Given the description of an element on the screen output the (x, y) to click on. 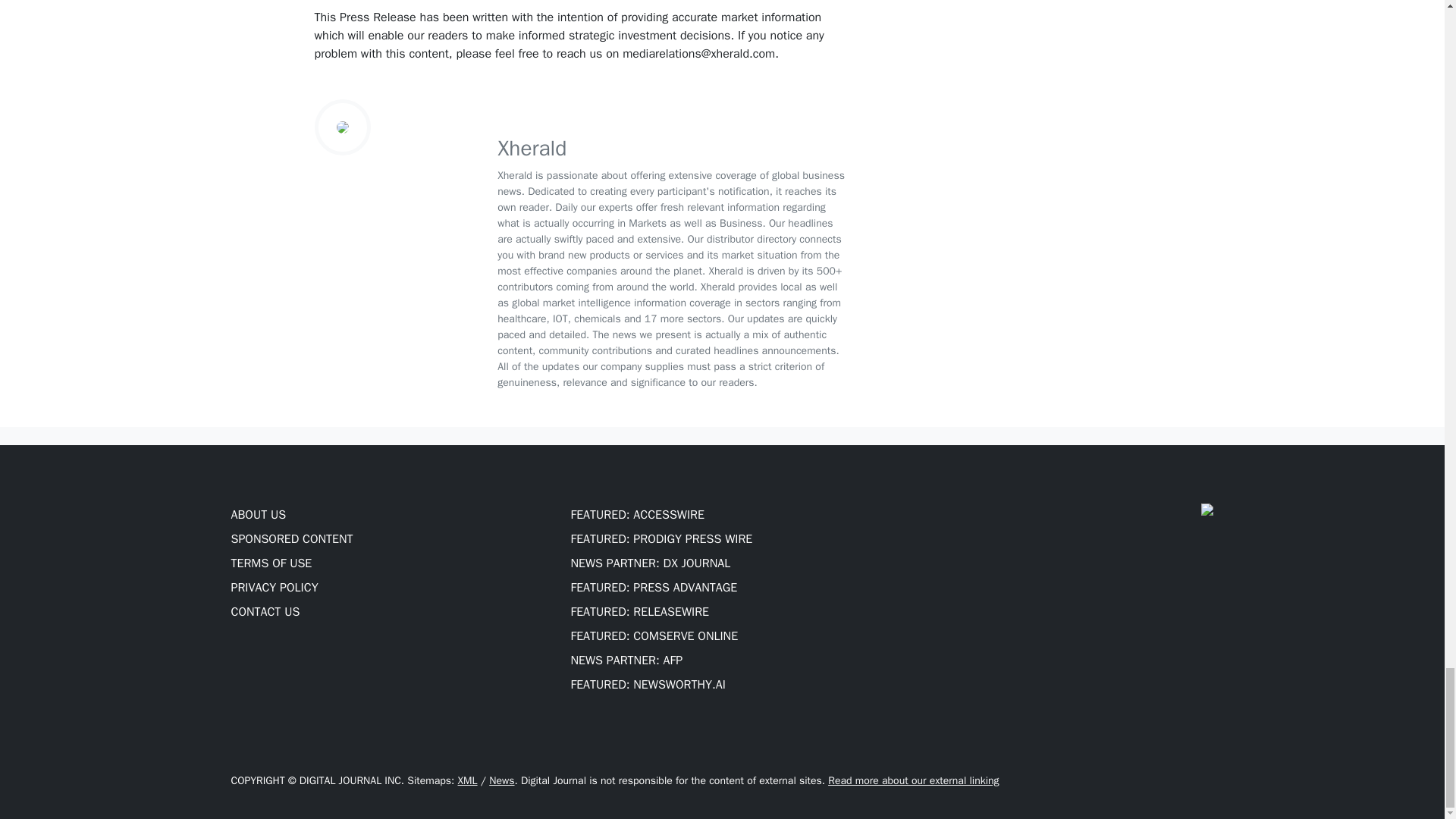
CONTACT US (264, 611)
SPONSORED CONTENT (291, 539)
FEATURED: PRODIGY PRESS WIRE (661, 539)
PRIVACY POLICY (273, 587)
TERMS OF USE (270, 563)
FEATURED: ACCESSWIRE (636, 514)
ABOUT US (257, 514)
